Given the description of an element on the screen output the (x, y) to click on. 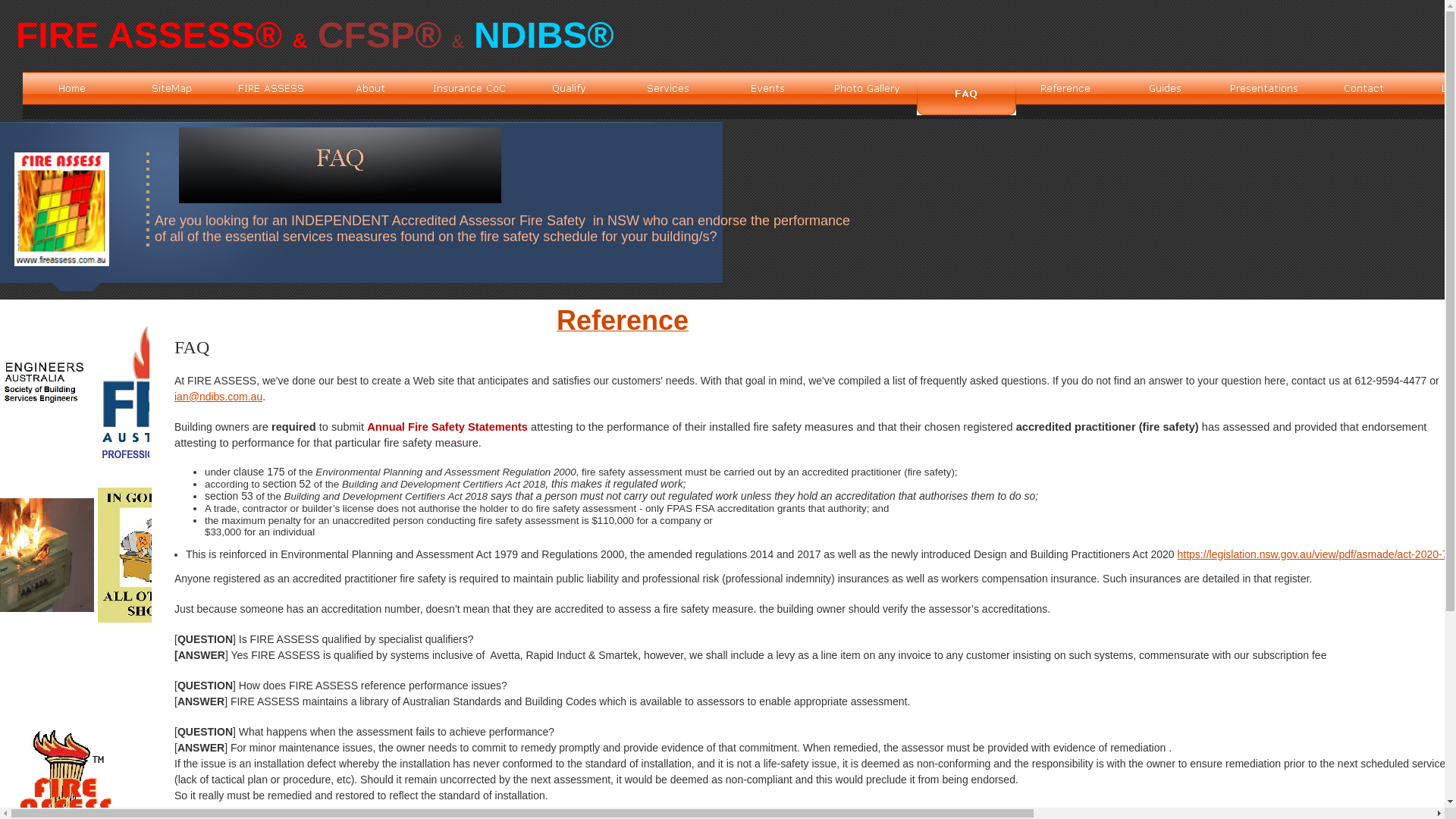
Insurance CoC Element type: hover (469, 88)
SiteMap Element type: hover (171, 88)
Services Element type: hover (668, 88)
Qualify Element type: hover (568, 88)
Photo Gallery Element type: hover (866, 88)
Events Element type: hover (767, 88)
FireAssessRisk Element type: hover (61, 209)
FAQ Element type: hover (966, 93)
Presentations Element type: hover (1264, 88)
Reference Element type: text (622, 326)
FAQ Element type: hover (339, 165)
Reference Element type: hover (1065, 88)
Guides Element type: hover (1164, 88)
ian@ndibs.com.au Element type: text (218, 396)
FIRE ASSESS Element type: hover (270, 88)
https://legislation.nsw.gov.au/view/pdf/asmade/act-2020-7 Element type: text (1311, 554)
vertical-divider Element type: hover (147, 199)
Contact Element type: hover (1363, 88)
About Element type: hover (370, 88)
Home Element type: hover (72, 88)
